Given the description of an element on the screen output the (x, y) to click on. 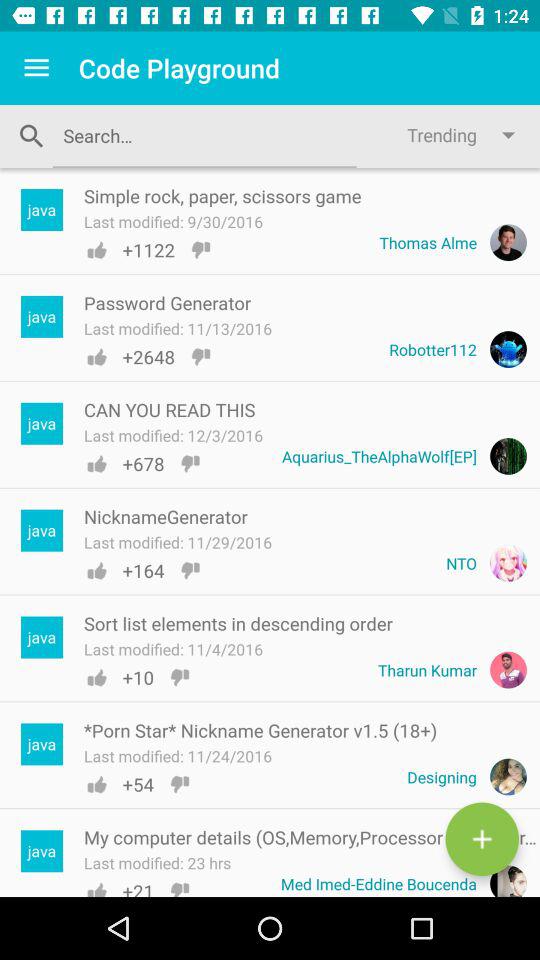
select the text box which says search (204, 135)
click the like button in the 2nd row of java (96, 356)
select the dislike icon for my computer details (180, 887)
